Given the description of an element on the screen output the (x, y) to click on. 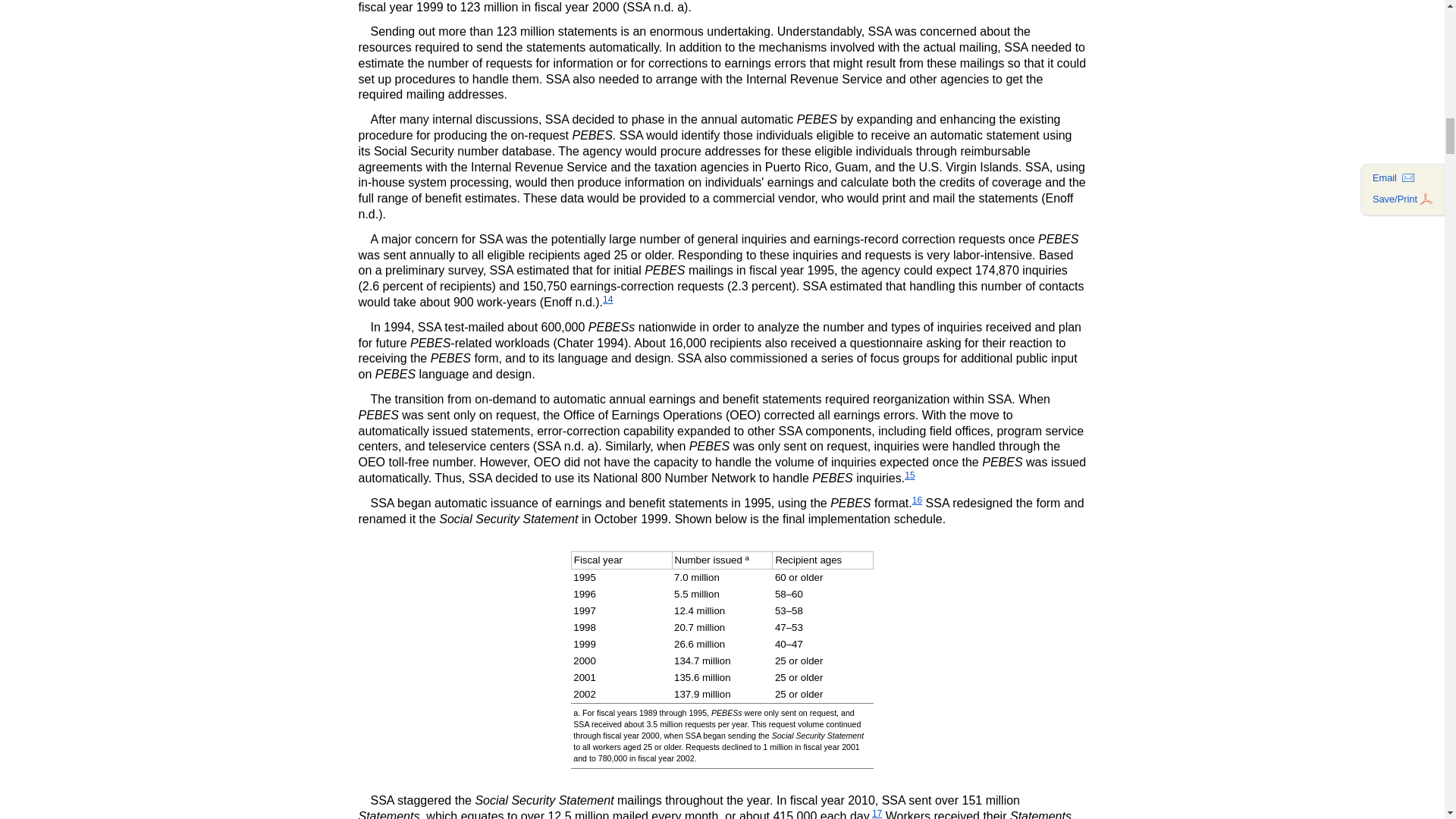
14 (607, 299)
16 (916, 500)
17 (877, 813)
15 (909, 475)
